Given the description of an element on the screen output the (x, y) to click on. 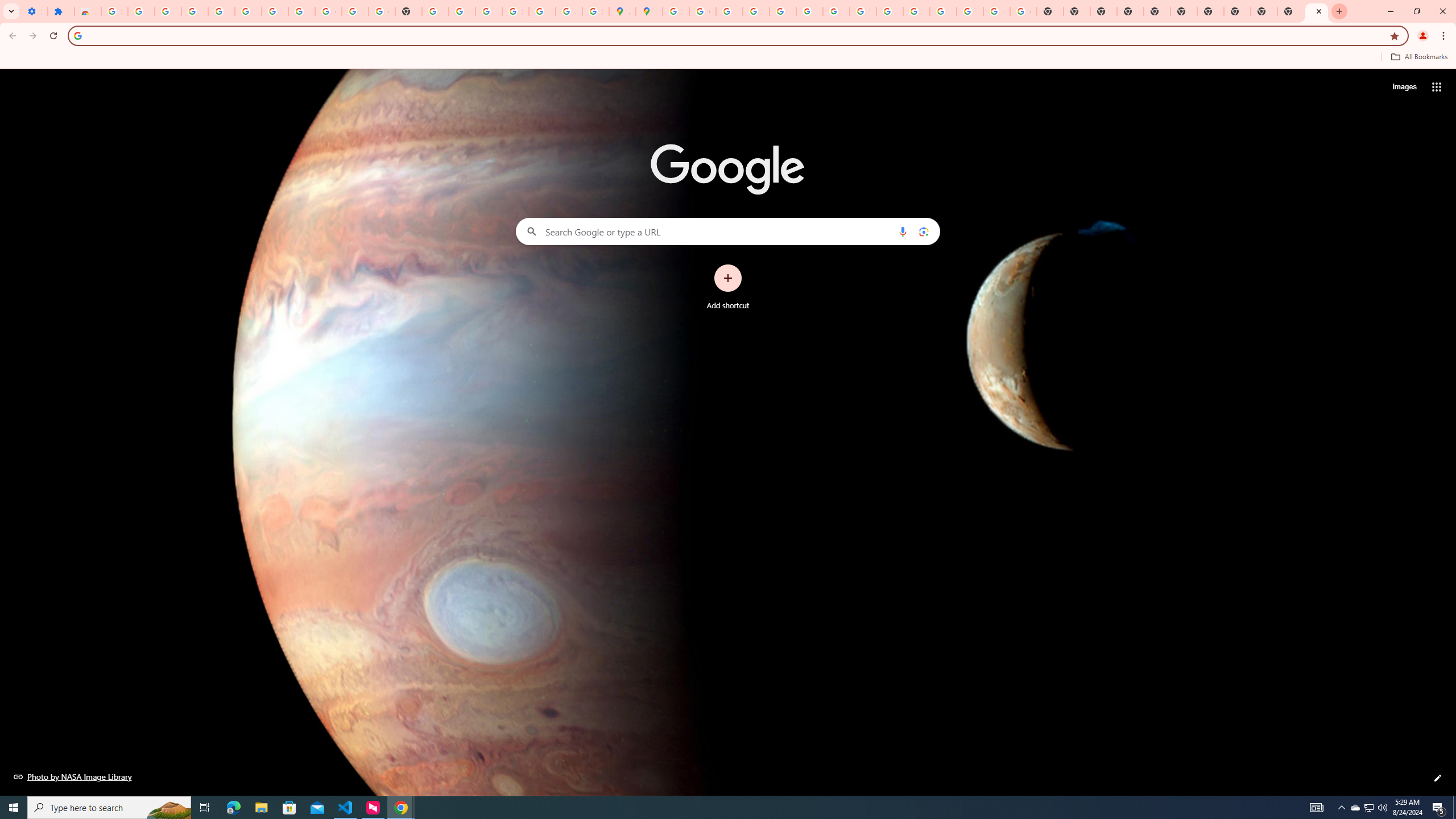
Bookmarks (728, 58)
New Tab (1263, 11)
Search Google or type a URL (727, 230)
Customize this page (1437, 778)
Google Account (328, 11)
Browse Chrome as a guest - Computer - Google Chrome Help (889, 11)
Add shortcut (727, 287)
All Bookmarks (1418, 56)
Privacy Help Center - Policies Help (756, 11)
